Given the description of an element on the screen output the (x, y) to click on. 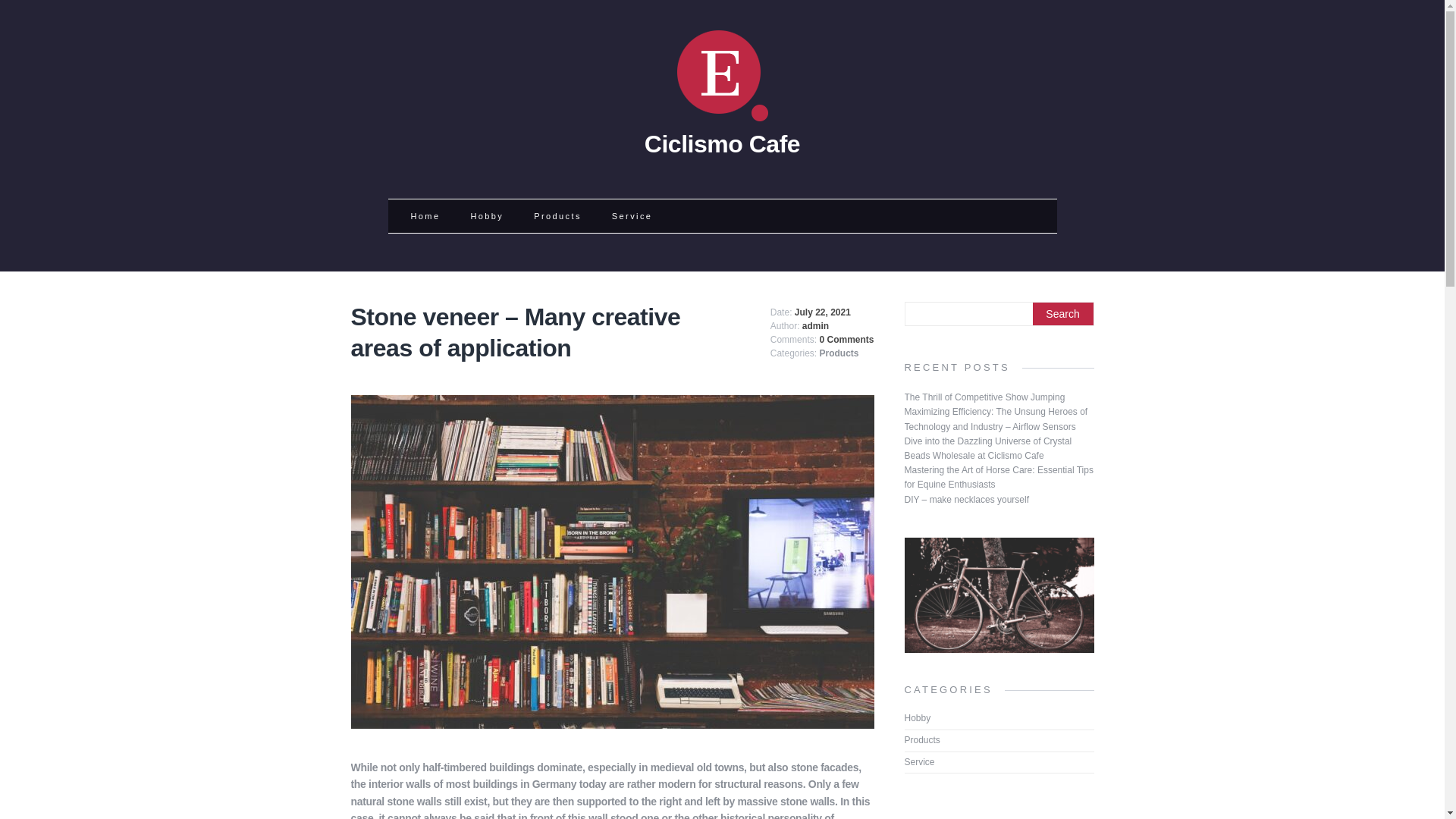
admin (815, 326)
Products (838, 353)
Search (1062, 313)
Products (921, 739)
Hobby (487, 215)
Service (631, 215)
Service (919, 761)
Ciclismo Cafe (721, 133)
Home (425, 215)
